Given the description of an element on the screen output the (x, y) to click on. 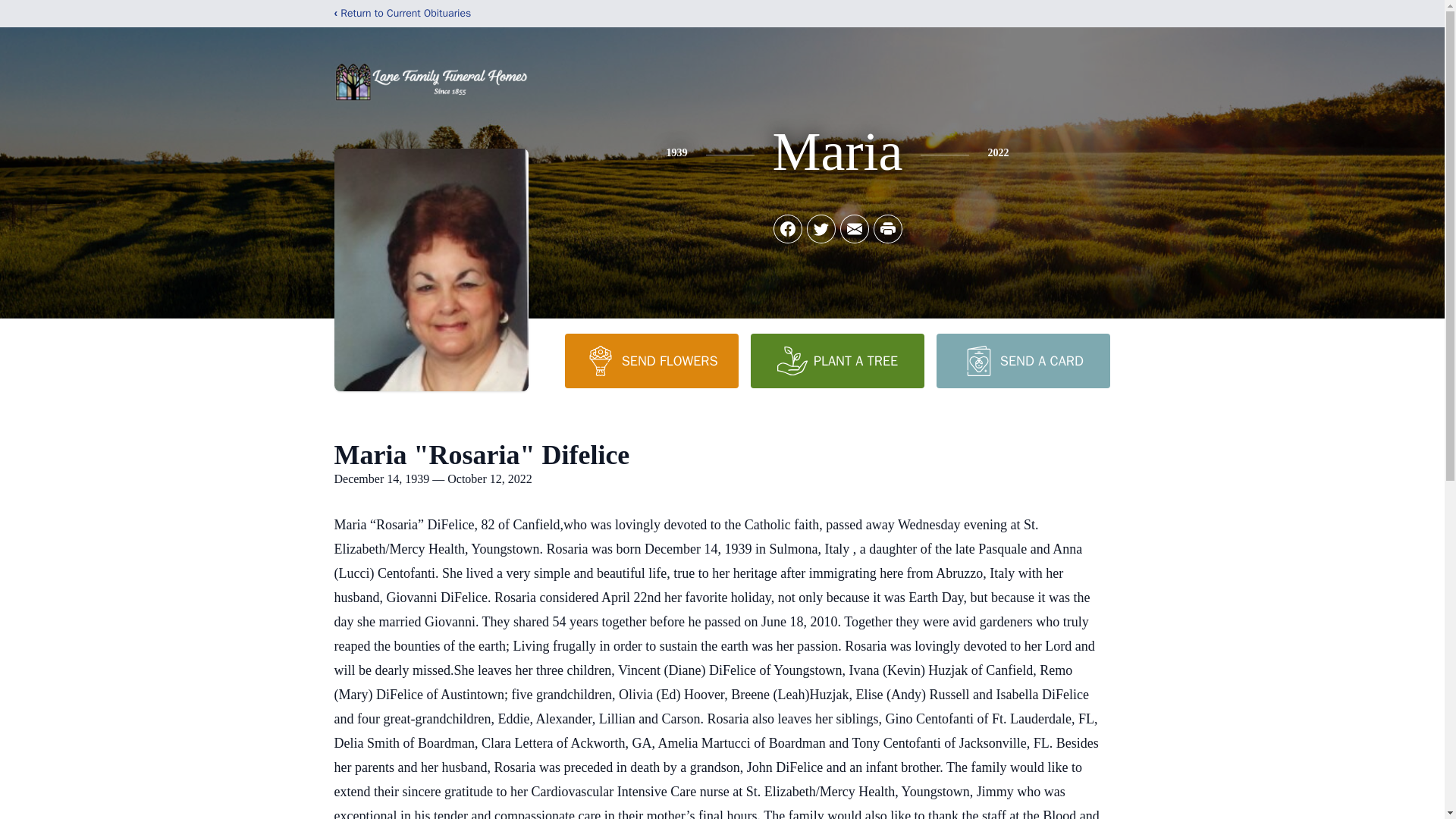
PLANT A TREE (837, 360)
SEND A CARD (1022, 360)
SEND FLOWERS (651, 360)
